Given the description of an element on the screen output the (x, y) to click on. 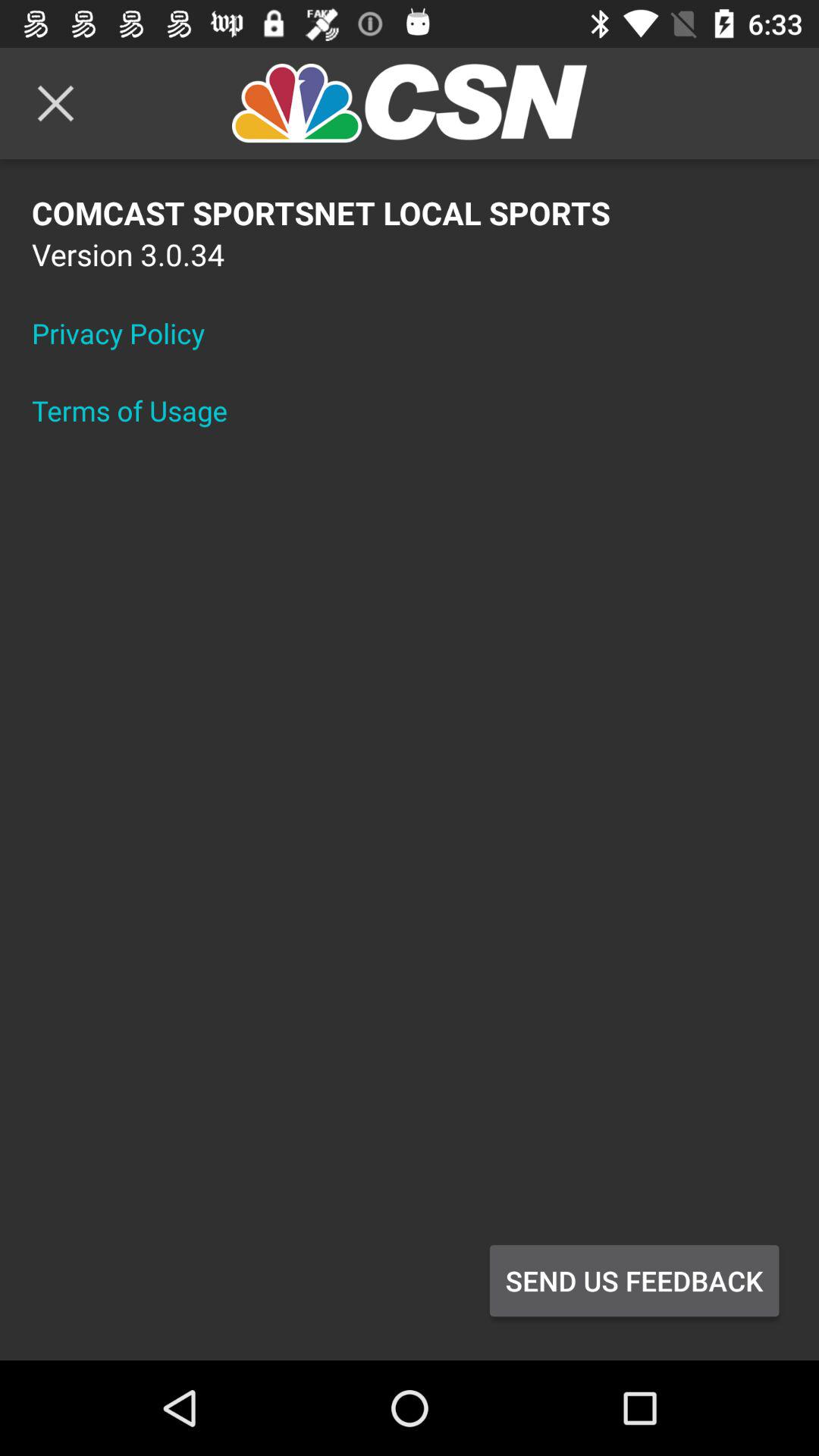
launch the icon below privacy policy icon (139, 410)
